Given the description of an element on the screen output the (x, y) to click on. 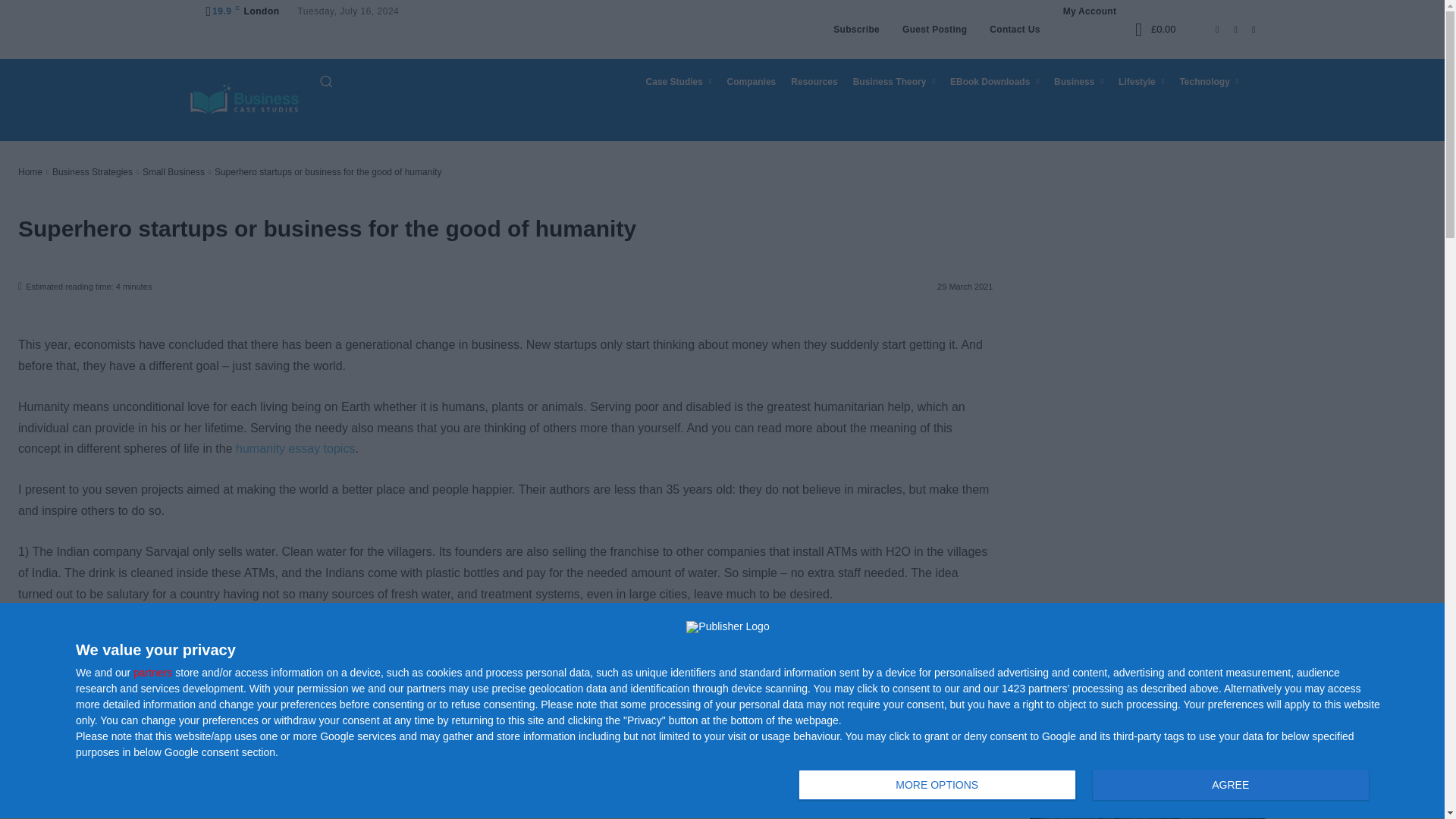
View all posts in Business Strategies (92, 172)
RSS (1224, 29)
partners (152, 672)
Twitter (1243, 29)
Facebook (1206, 29)
View all posts in Small Business (173, 172)
AGREE (1230, 784)
MORE OPTIONS (936, 784)
